Given the description of an element on the screen output the (x, y) to click on. 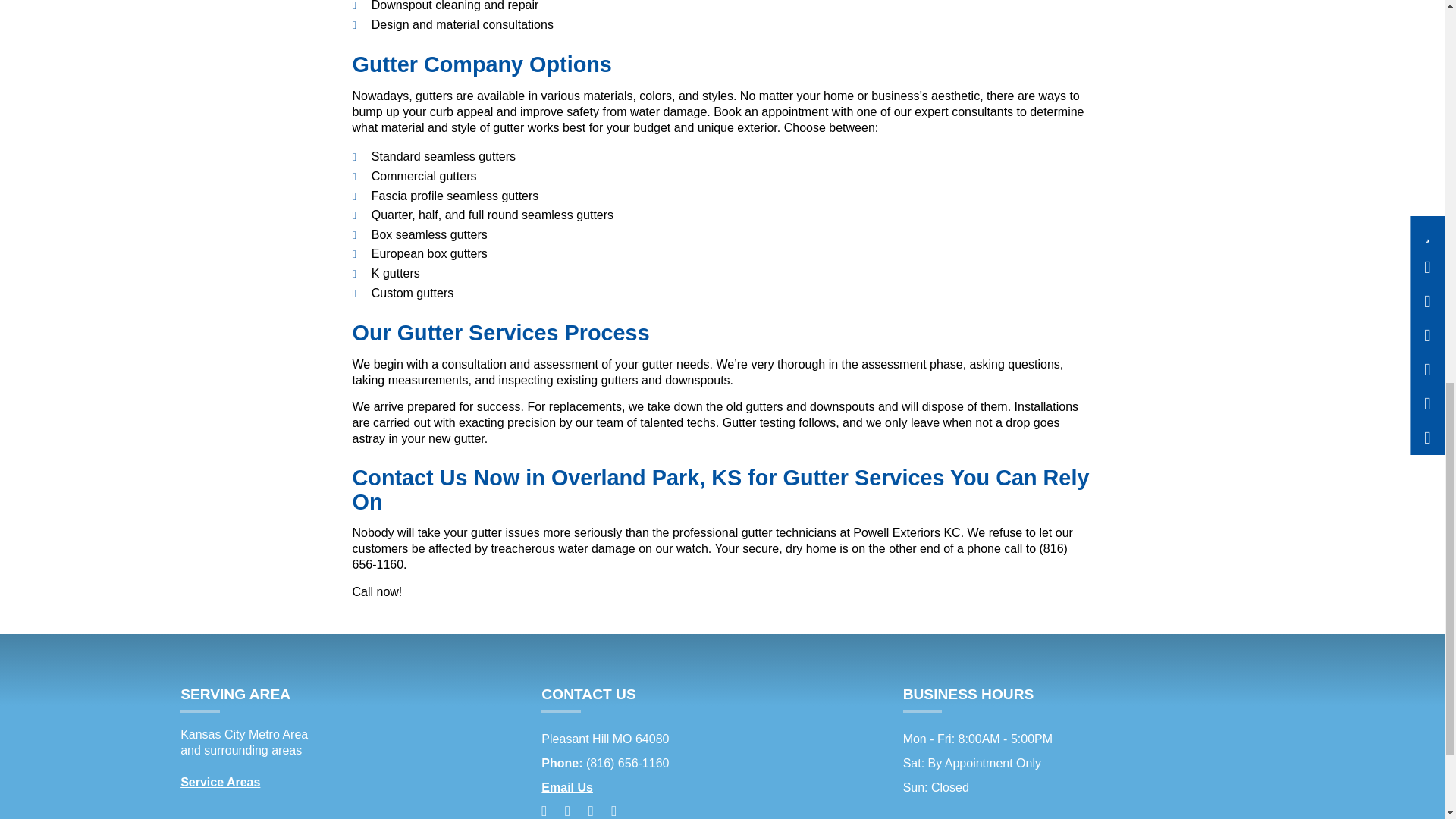
Email us today (566, 787)
Service Areas pages (220, 781)
